Given the description of an element on the screen output the (x, y) to click on. 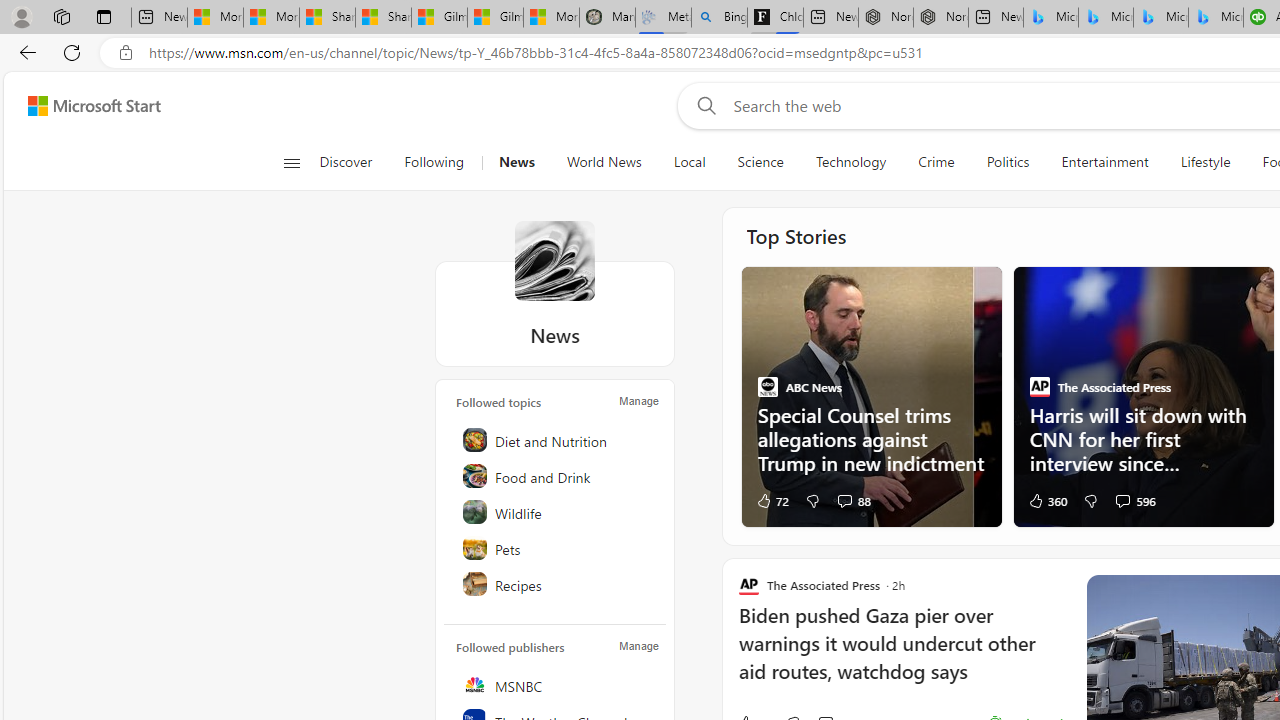
Local (688, 162)
Gilma and Hector both pose tropical trouble for Hawaii (495, 17)
Open navigation menu (291, 162)
Skip to content (86, 105)
Chloe Sorvino (774, 17)
Recipes (556, 583)
News (554, 260)
